Given the description of an element on the screen output the (x, y) to click on. 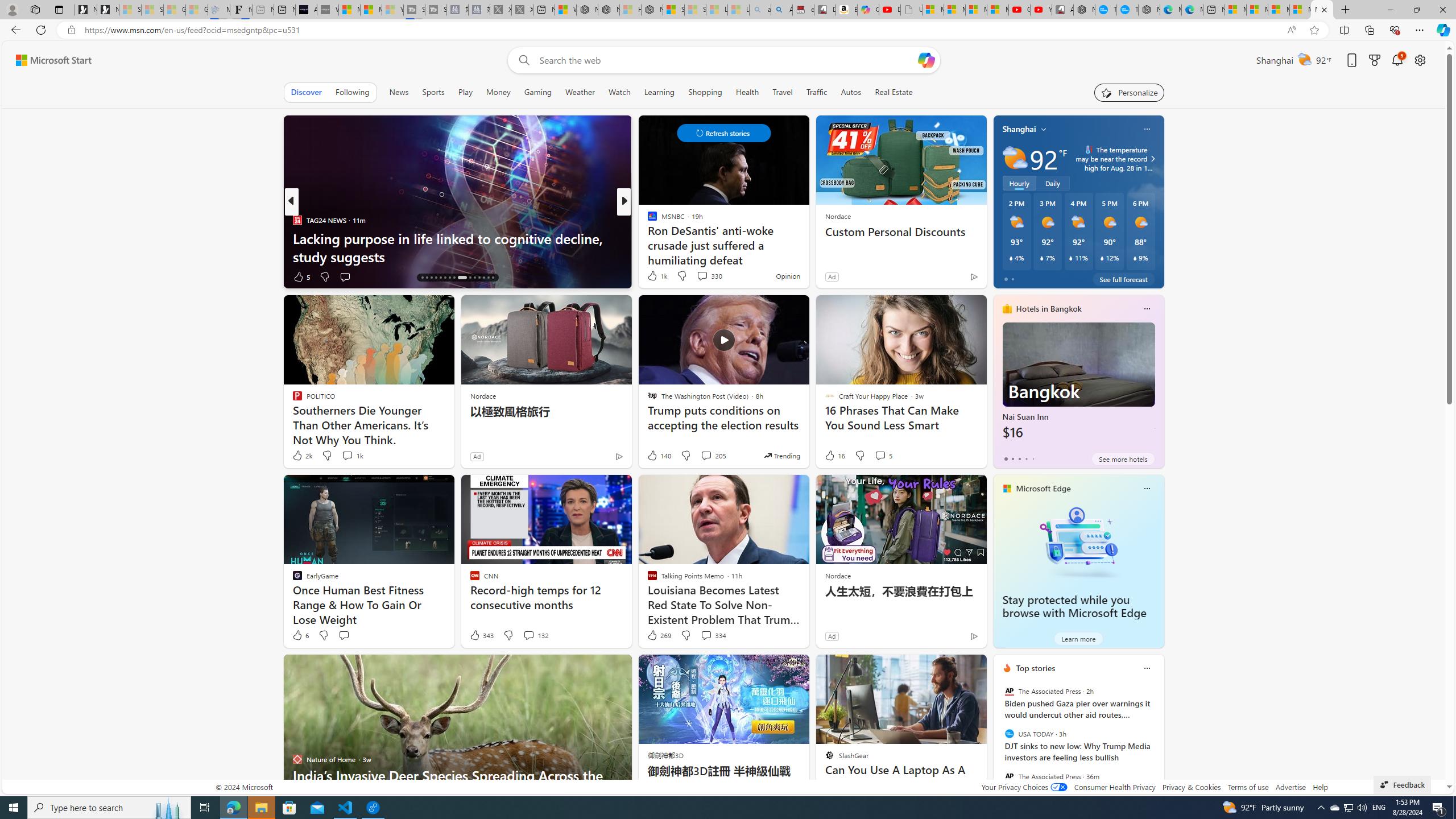
View comments 213 Comment (6, 276)
amazon - Search - Sleeping (760, 9)
Open settings (1420, 60)
Skip to footer (46, 59)
tab-1 (1012, 458)
Partly sunny (1014, 158)
Amazon Echo Dot PNG - Search Images (781, 9)
This story is trending (781, 455)
View comments 39 Comment (6, 276)
View comments 334 Comment (712, 634)
Stay protected while you browse with Microsoft Edge (1074, 606)
